Given the description of an element on the screen output the (x, y) to click on. 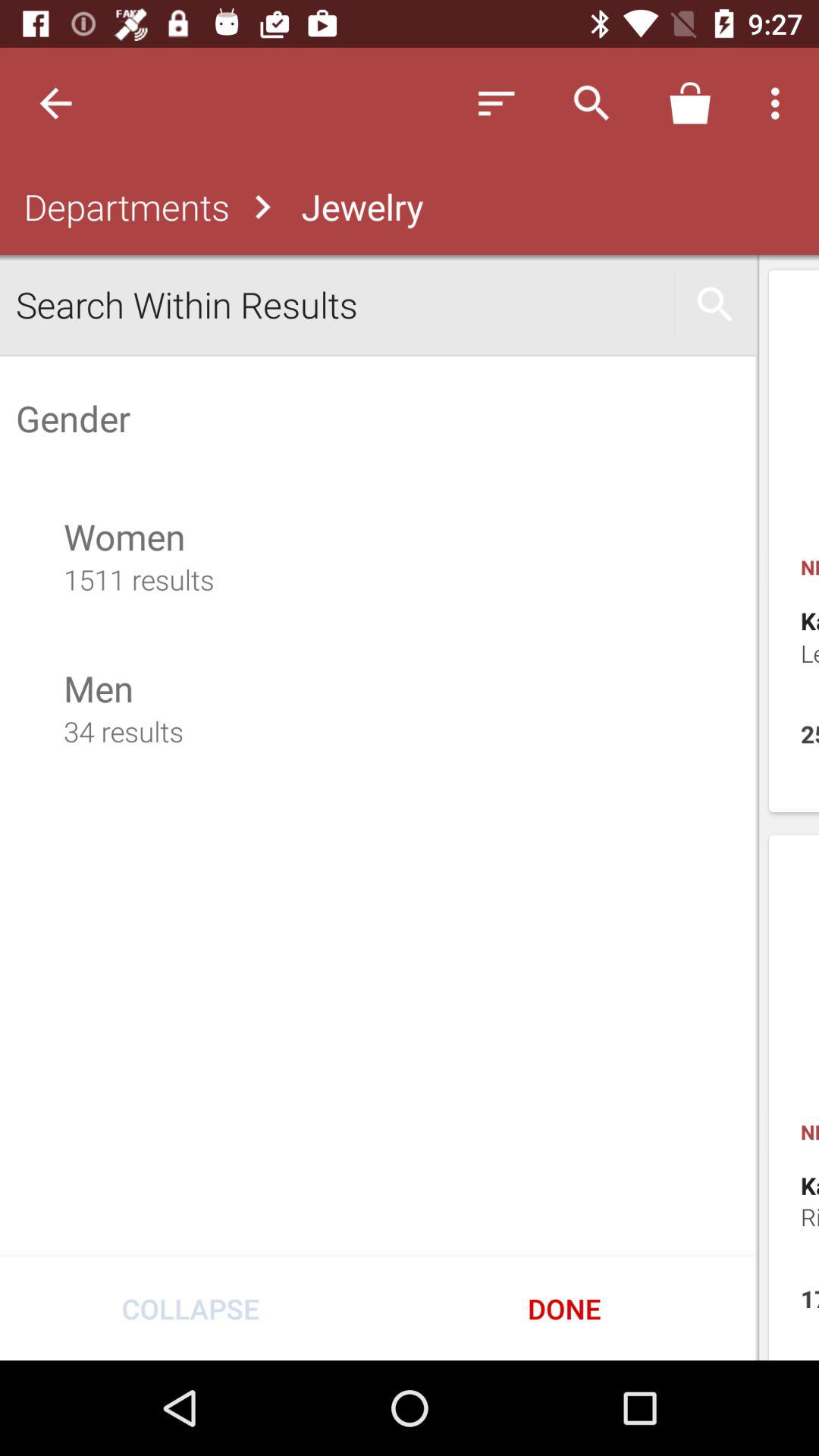
swipe to the departments item (122, 206)
